Given the description of an element on the screen output the (x, y) to click on. 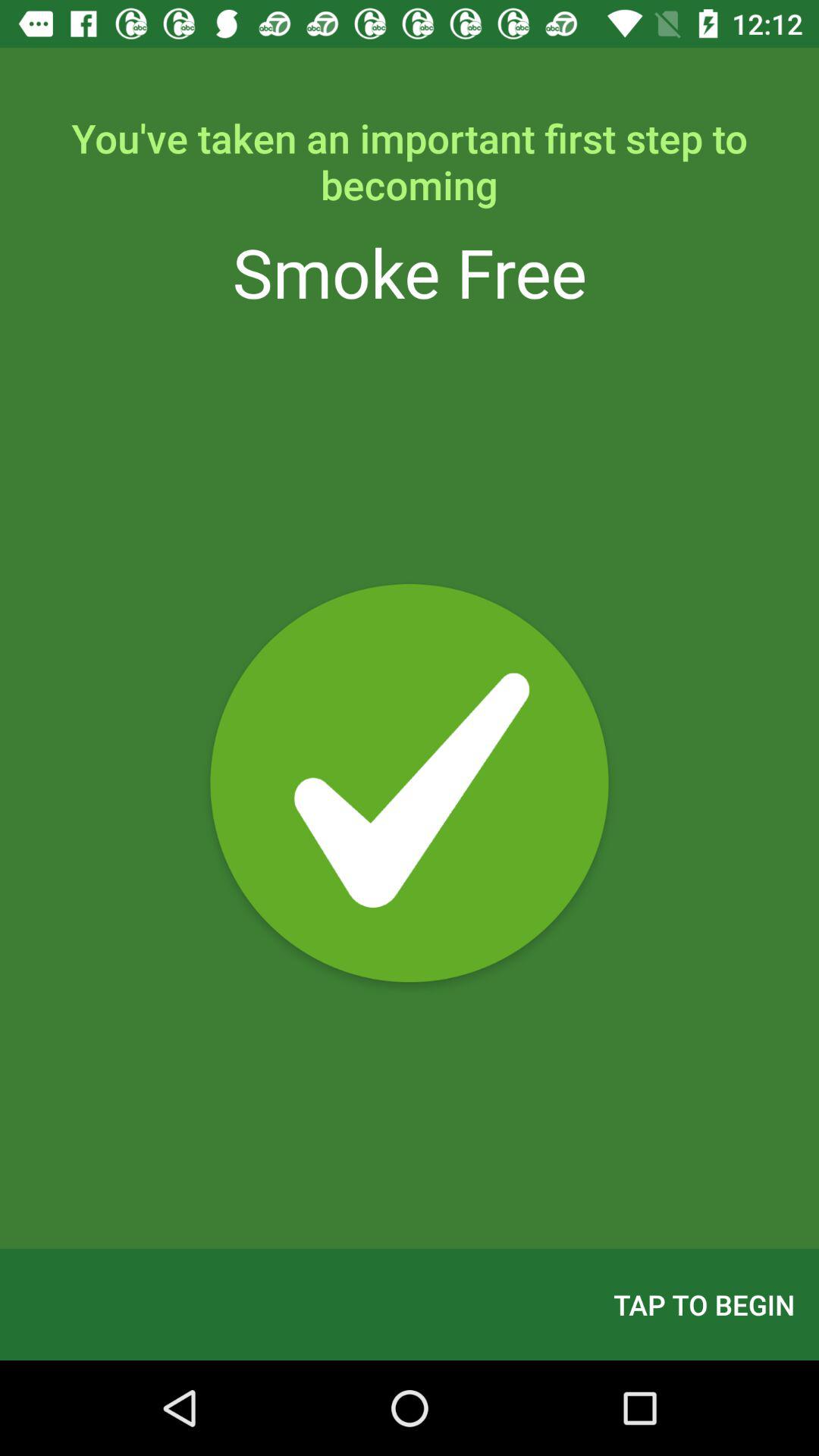
swipe to tap to begin (704, 1304)
